Given the description of an element on the screen output the (x, y) to click on. 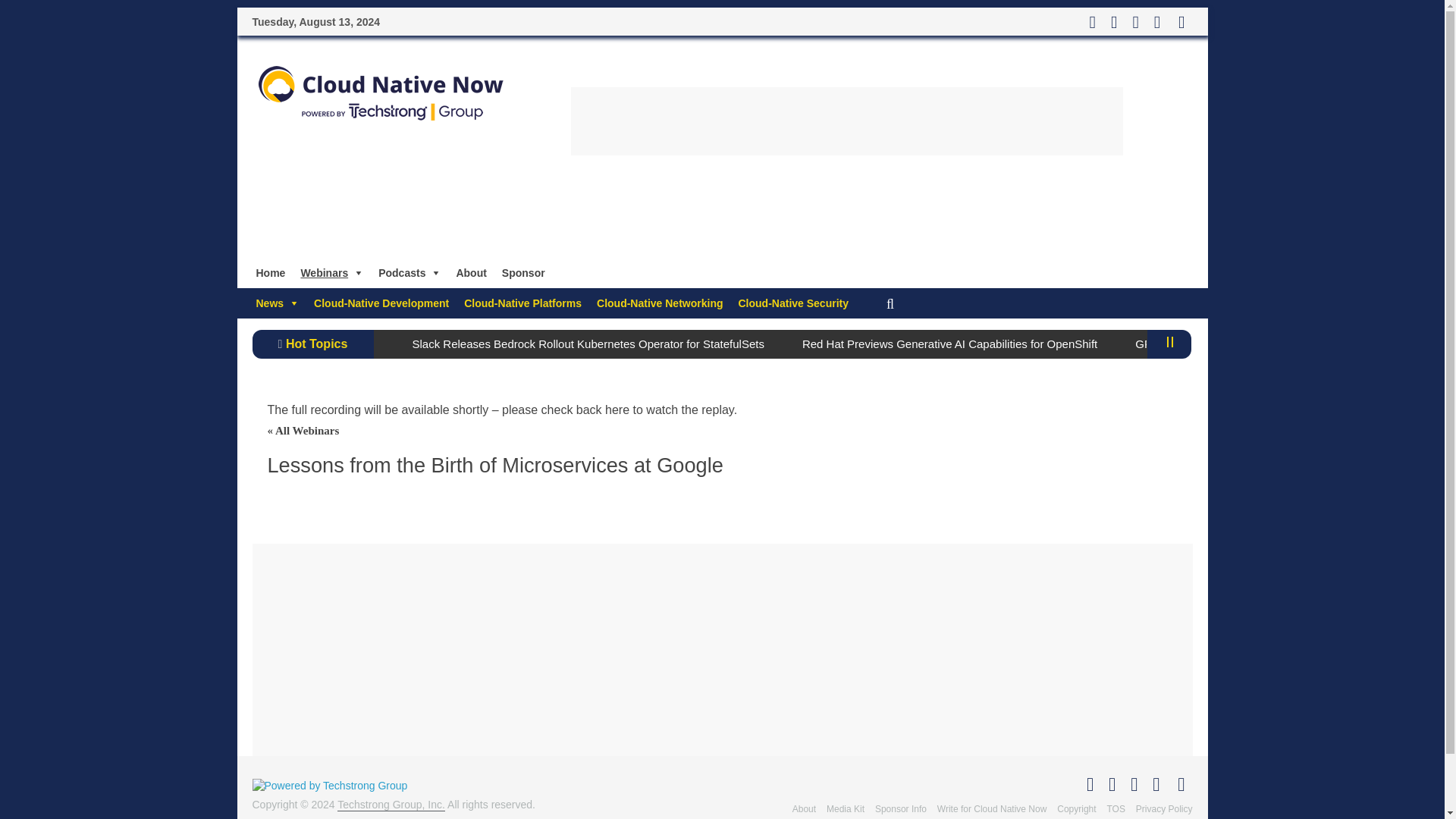
Webinars (331, 272)
Cloud-Native Development (381, 303)
Cloud-Native Security (793, 303)
Search (13, 13)
Red Hat Previews Generative AI Capabilities for OpenShift (949, 343)
Cloud-Native Networking (659, 303)
News (277, 303)
About (470, 272)
